Given the description of an element on the screen output the (x, y) to click on. 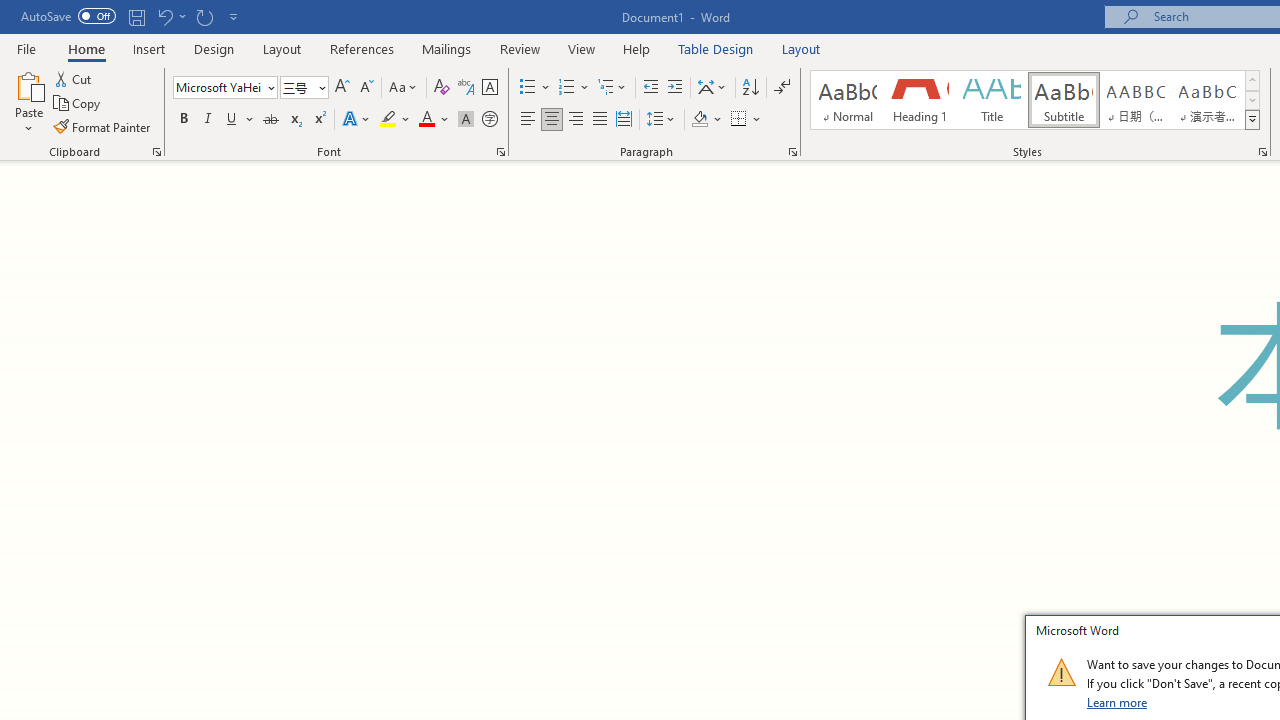
Font Color (434, 119)
Paragraph... (792, 151)
Undo Superscript (170, 15)
Table Design (715, 48)
